Given the description of an element on the screen output the (x, y) to click on. 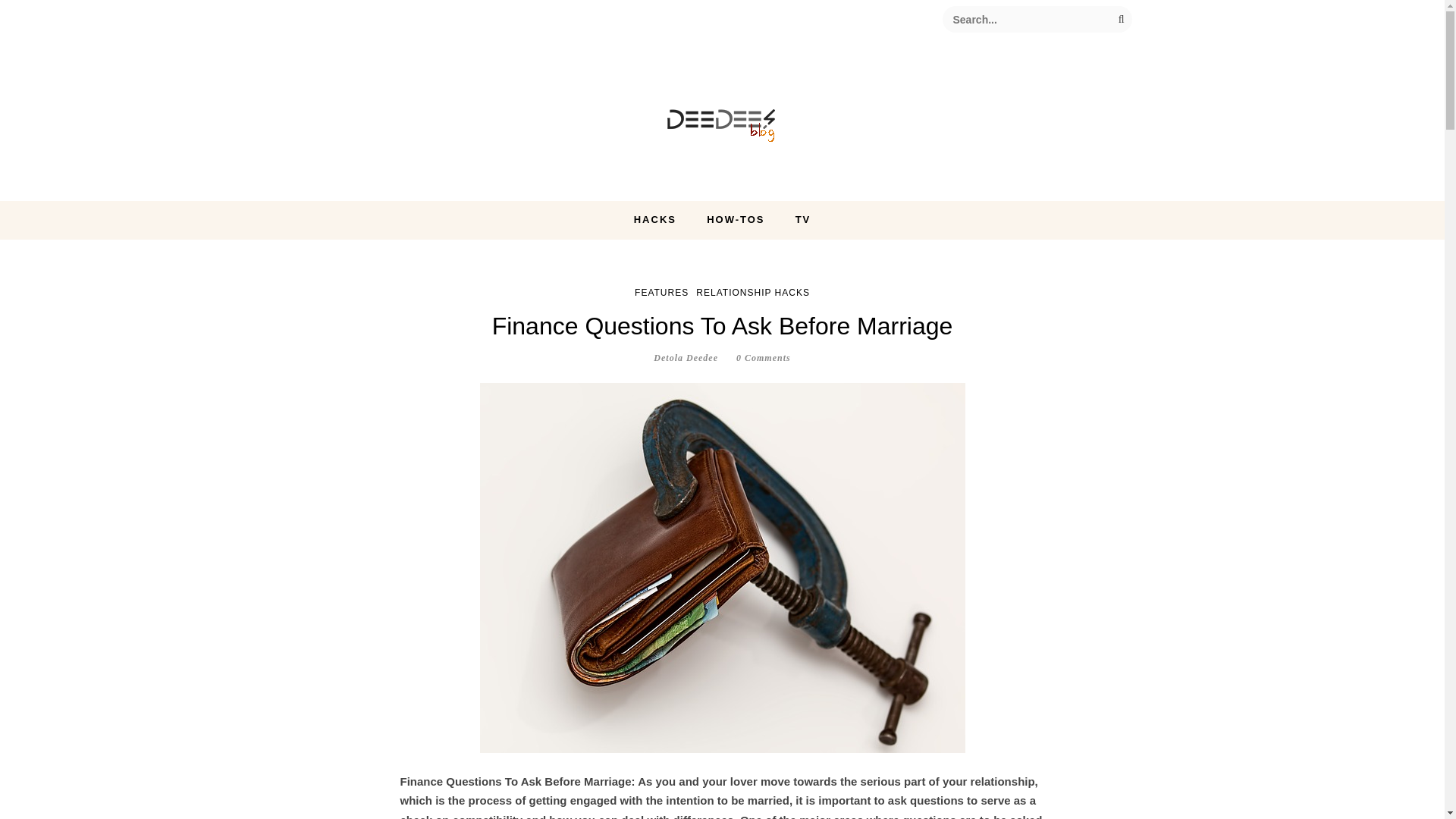
0 Comments (763, 357)
Posts by Detola Deedee (685, 357)
RELATIONSHIP HACKS (752, 292)
HACKS (655, 219)
HOW-TOS (735, 219)
FEATURES (661, 292)
Detola Deedee (685, 357)
